Given the description of an element on the screen output the (x, y) to click on. 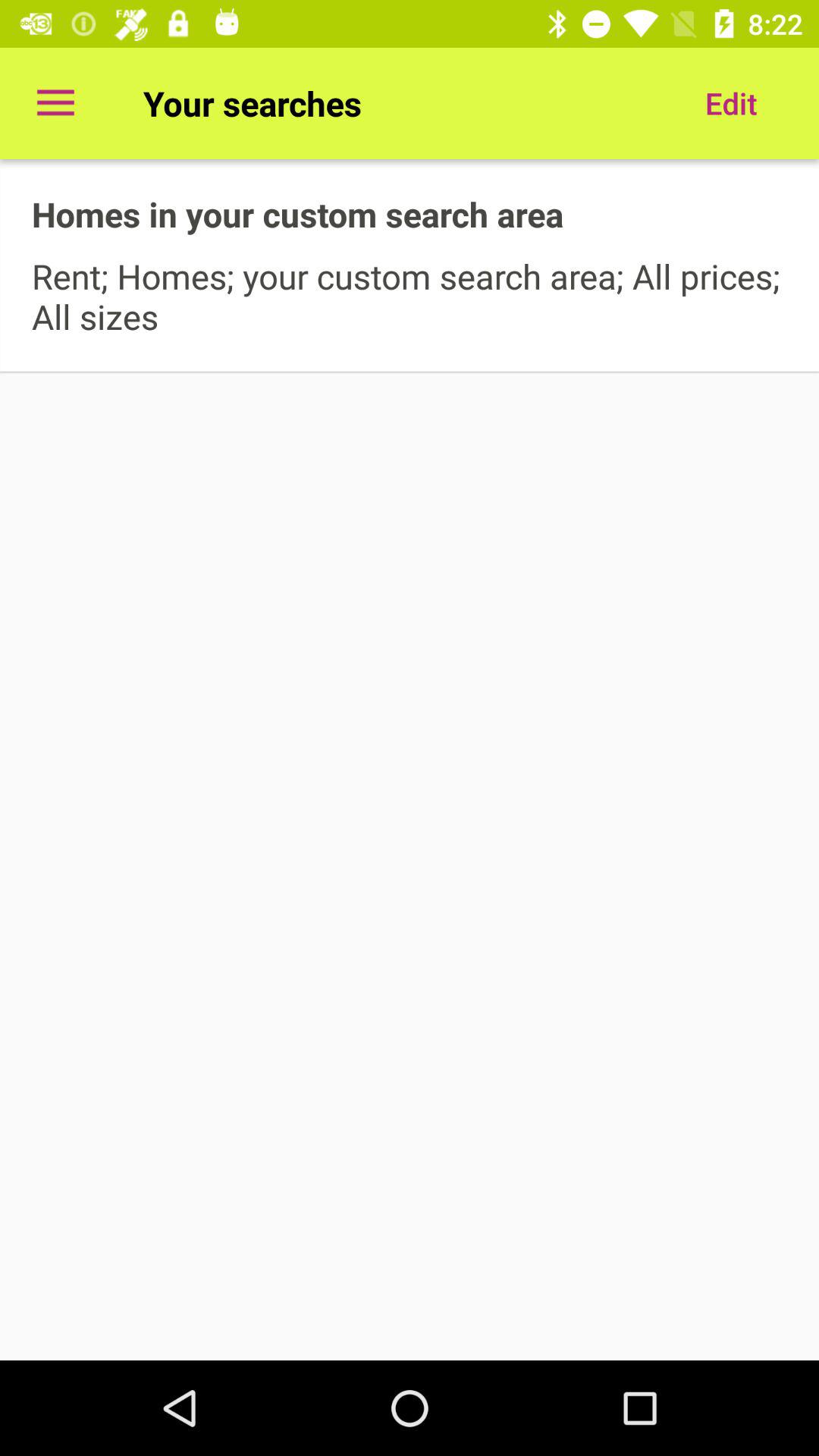
select the icon to the left of your searches (55, 103)
